Given the description of an element on the screen output the (x, y) to click on. 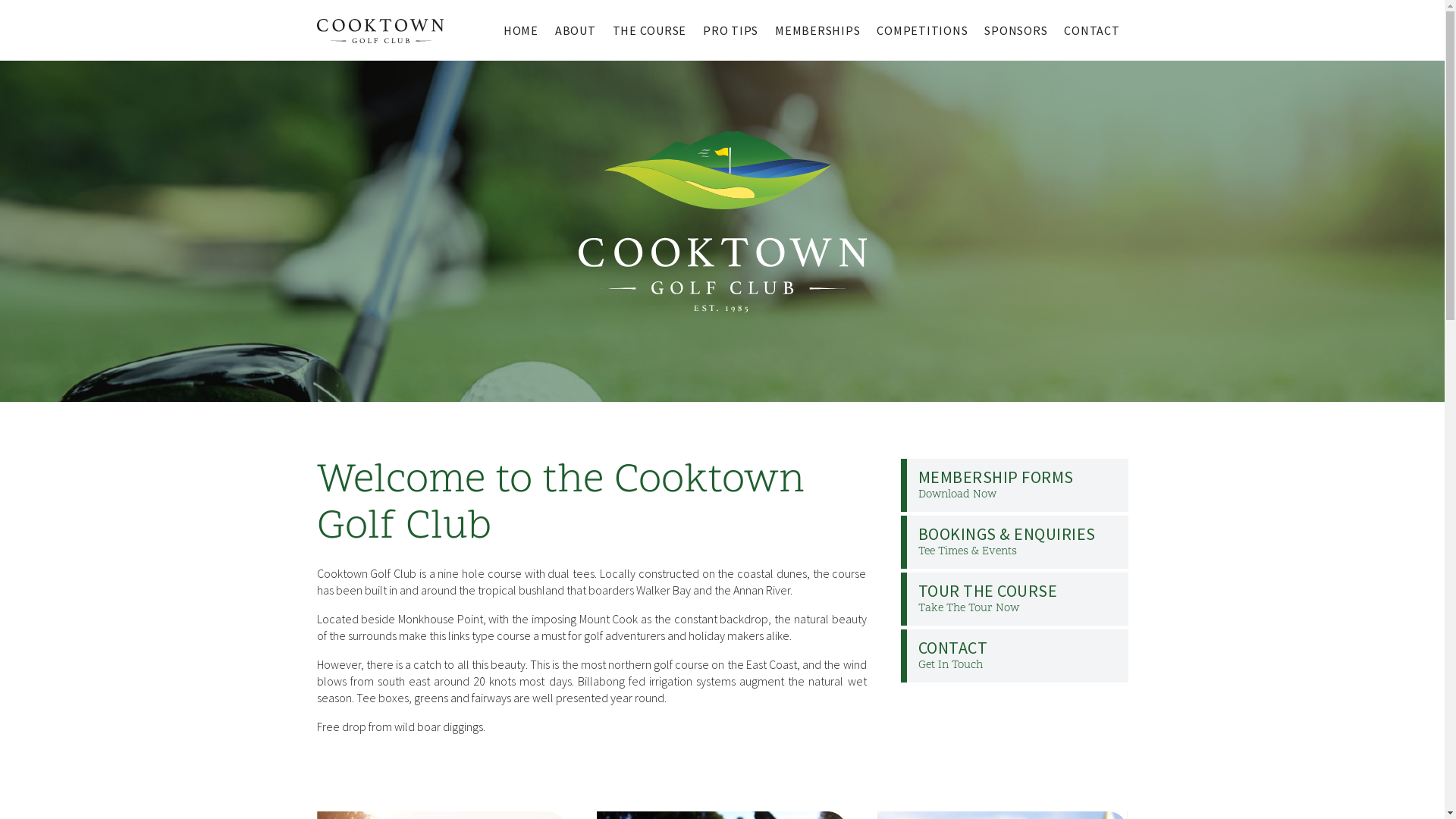
HOME Element type: text (520, 30)
MEMBERSHIPS Element type: text (817, 30)
CONTACT Element type: text (1091, 30)
Bookings & Enquiries
Tee Times & Events Element type: text (1014, 541)
Membership Forms
Download Now Element type: text (1014, 484)
Tour The Course
Take The Tour Now Element type: text (1014, 598)
PRO TIPS Element type: text (730, 30)
SPONSORS Element type: text (1015, 30)
COMPETITIONS Element type: text (921, 30)
THE COURSE Element type: text (648, 30)
ABOUT Element type: text (575, 30)
Contact
Get In Touch Element type: text (1014, 655)
